Given the description of an element on the screen output the (x, y) to click on. 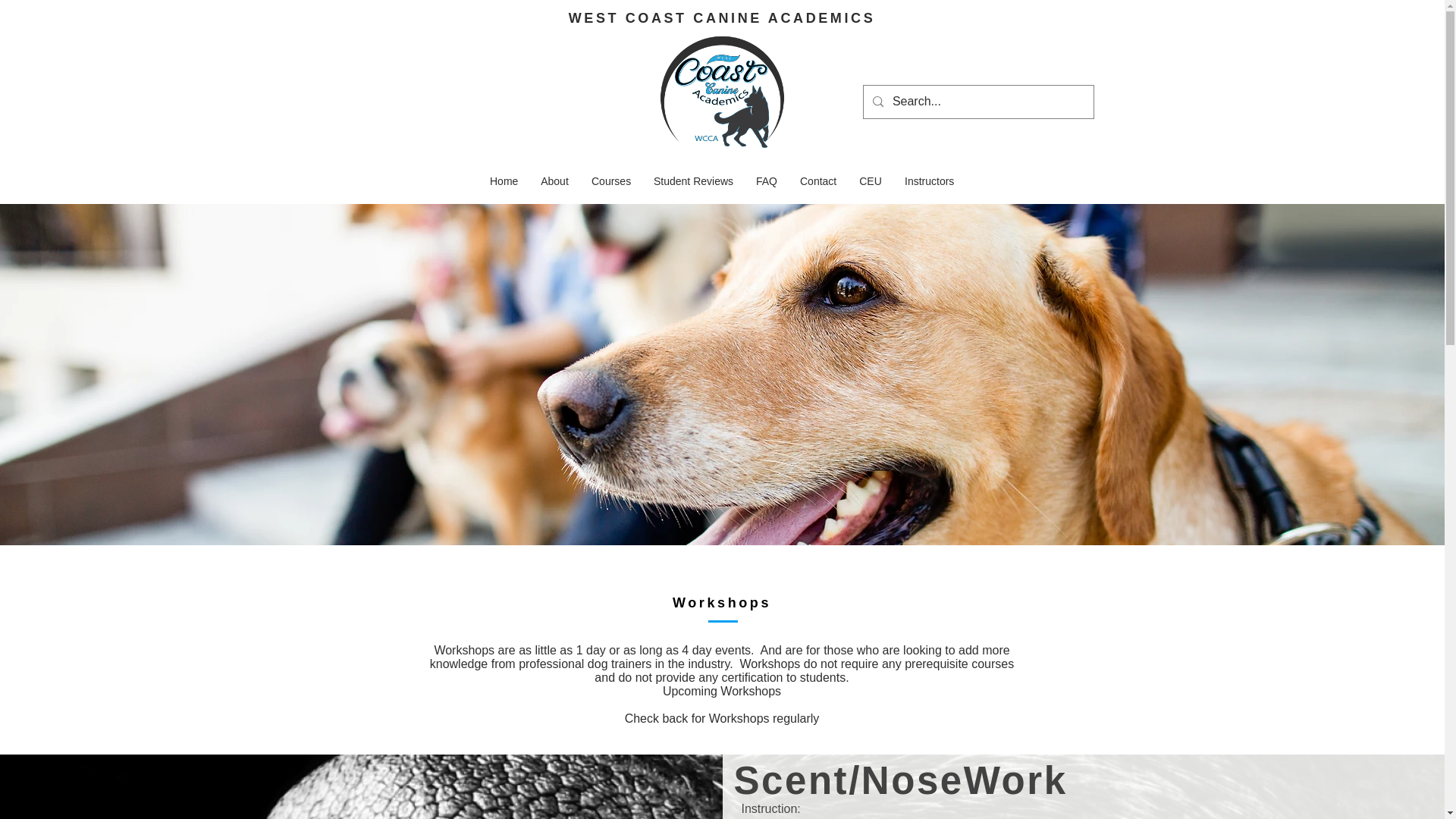
Instructors (929, 180)
CEU (870, 180)
Student Reviews (693, 180)
Courses (610, 180)
About (554, 180)
FAQ (766, 180)
Home (504, 180)
Contact (818, 180)
WEST COAST CANINE ACADEMICS (722, 17)
